Given the description of an element on the screen output the (x, y) to click on. 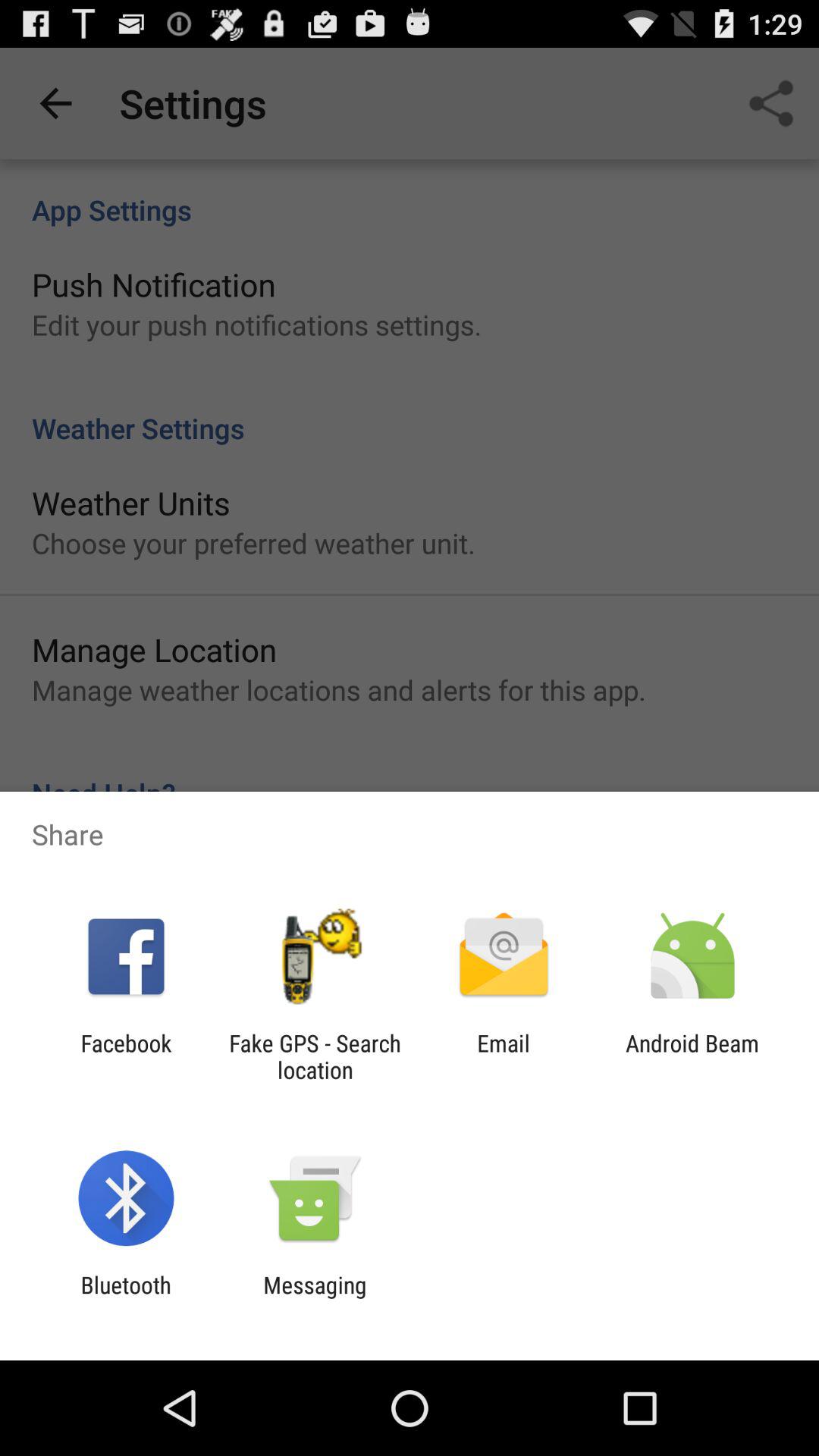
swipe until messaging app (314, 1298)
